Given the description of an element on the screen output the (x, y) to click on. 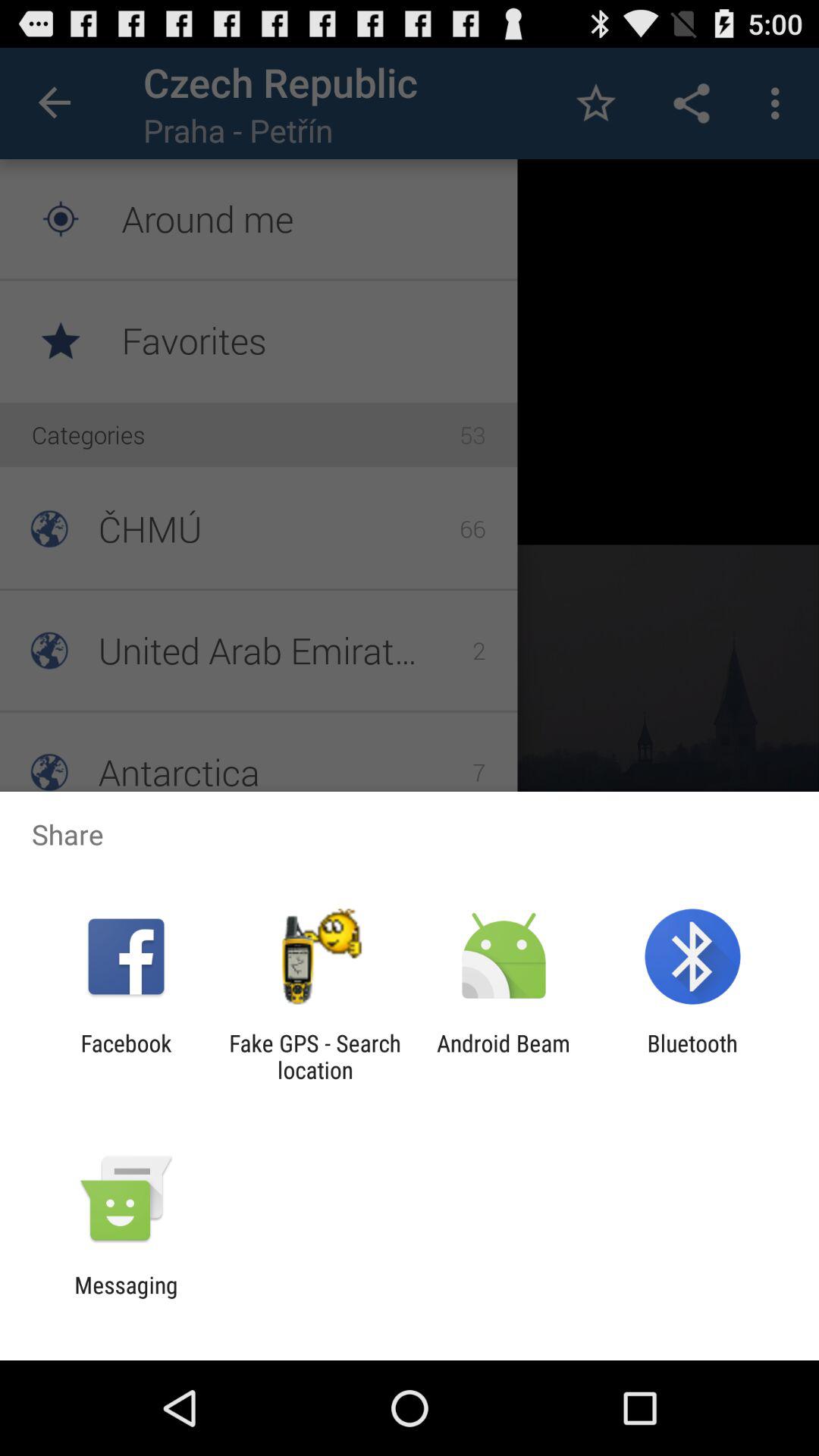
open the icon next to android beam app (314, 1056)
